Given the description of an element on the screen output the (x, y) to click on. 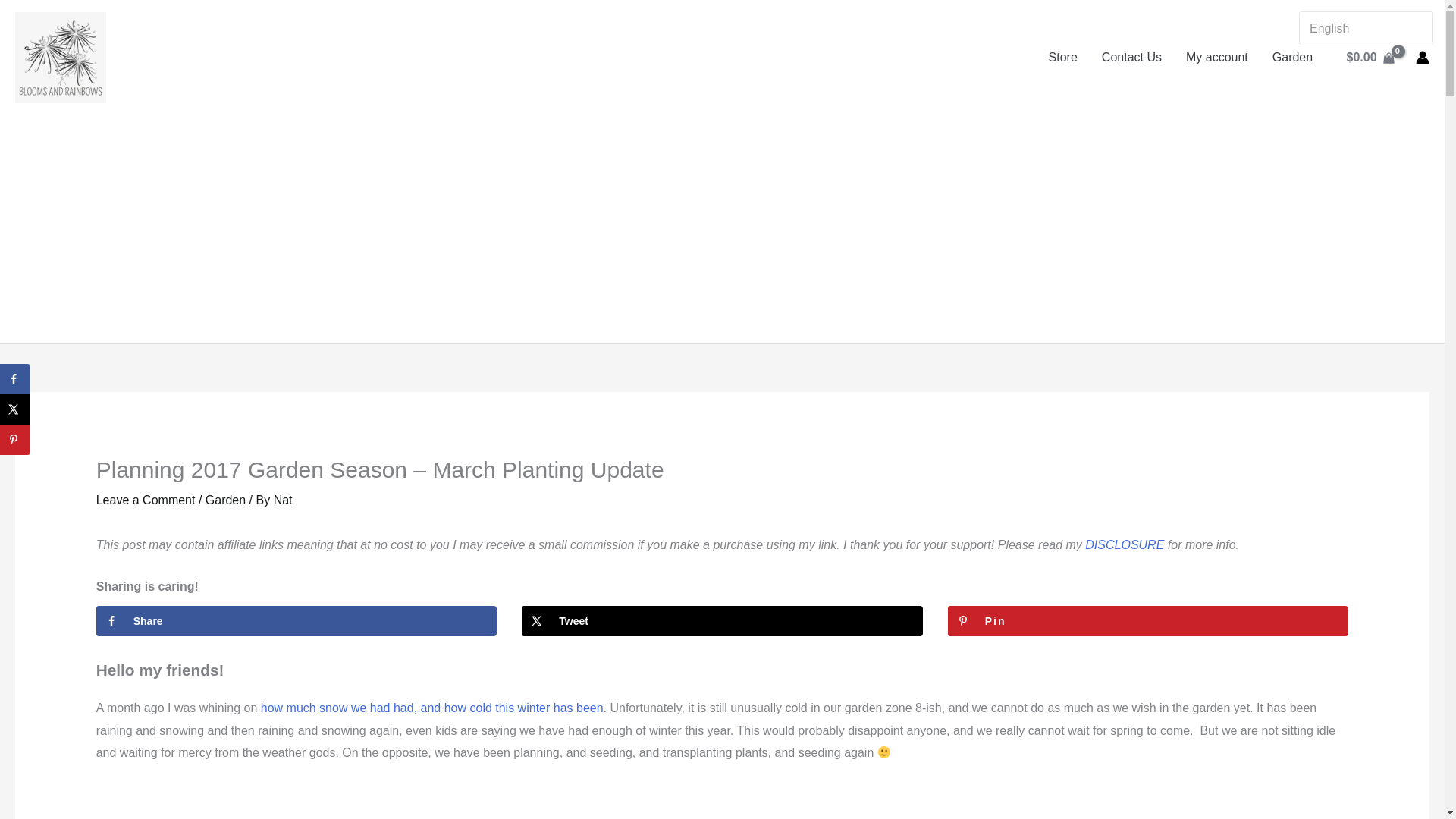
Garden (1292, 57)
Tweet (722, 621)
Share on X (722, 621)
Share on Facebook (296, 621)
Share on X (15, 409)
Store (1062, 57)
Save to Pinterest (1148, 621)
Nat (282, 499)
how much snow we had had, and how cold this winter has been (432, 707)
My account (1216, 57)
